Given the description of an element on the screen output the (x, y) to click on. 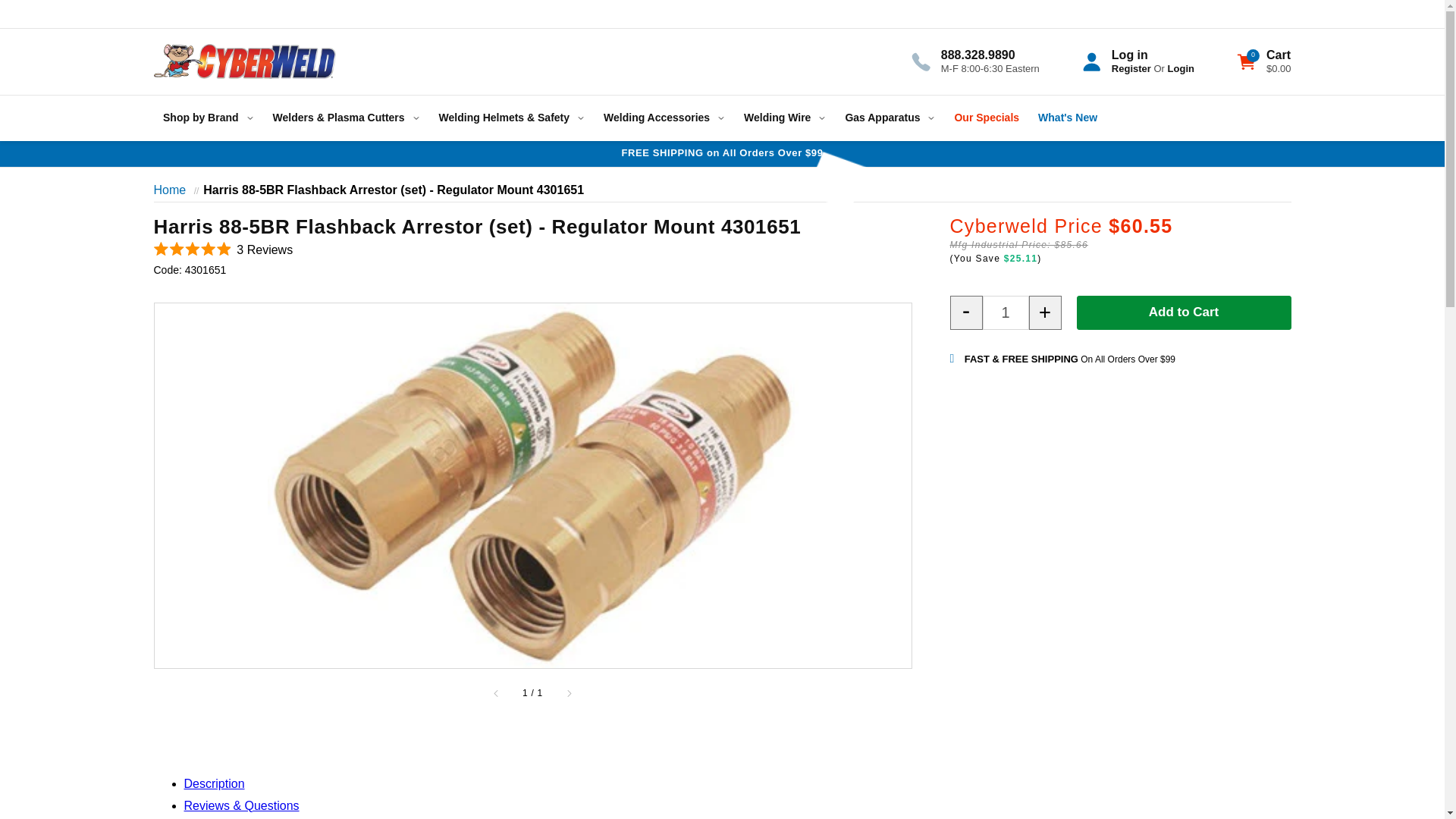
Skip to content (45, 16)
Login (1180, 68)
1 (1005, 312)
Shop by Brand (207, 117)
Log in (1130, 54)
Register (1131, 68)
